Given the description of an element on the screen output the (x, y) to click on. 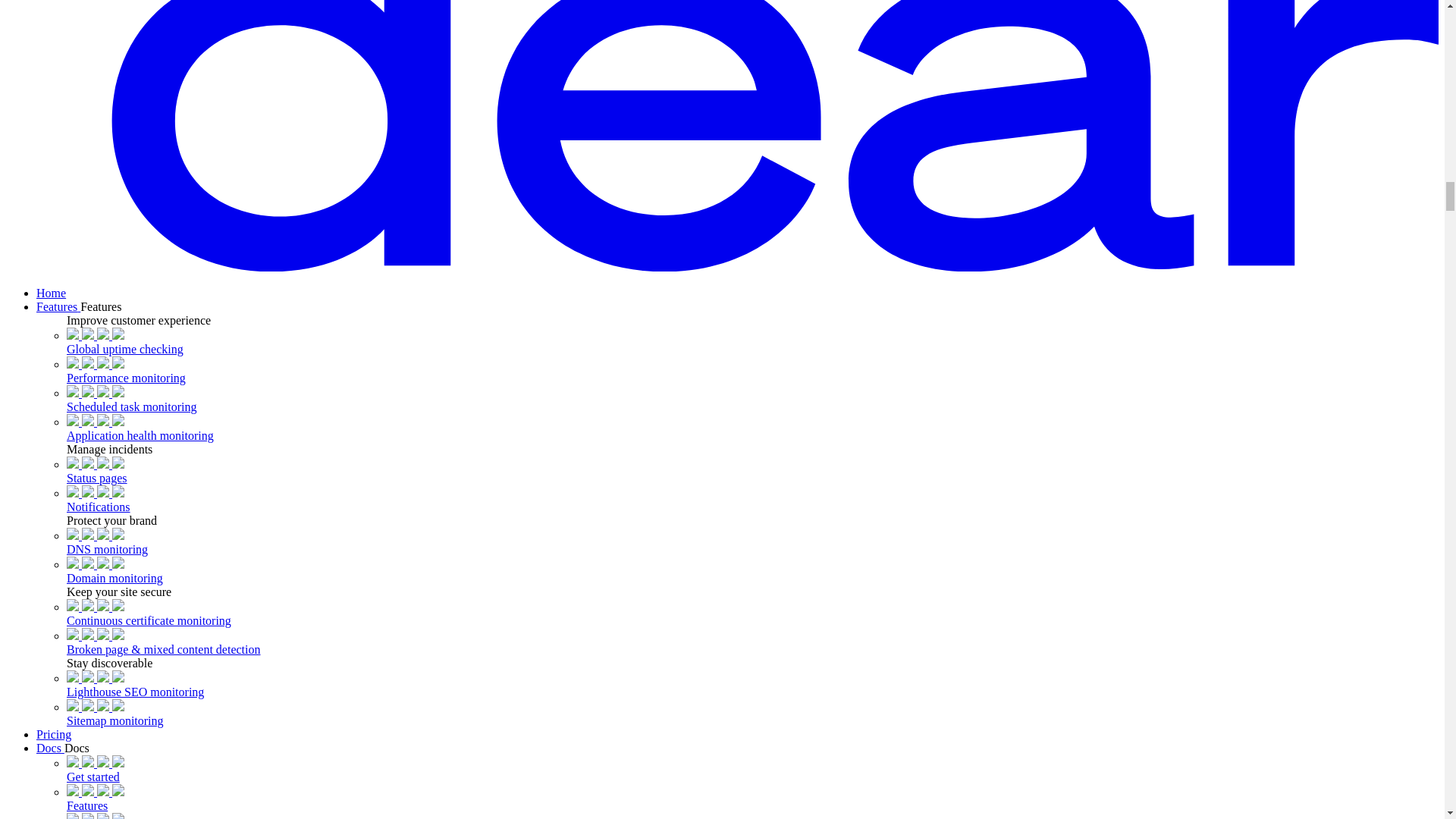
Home (50, 292)
Features (58, 306)
Pricing (53, 734)
Docs (50, 748)
